Given the description of an element on the screen output the (x, y) to click on. 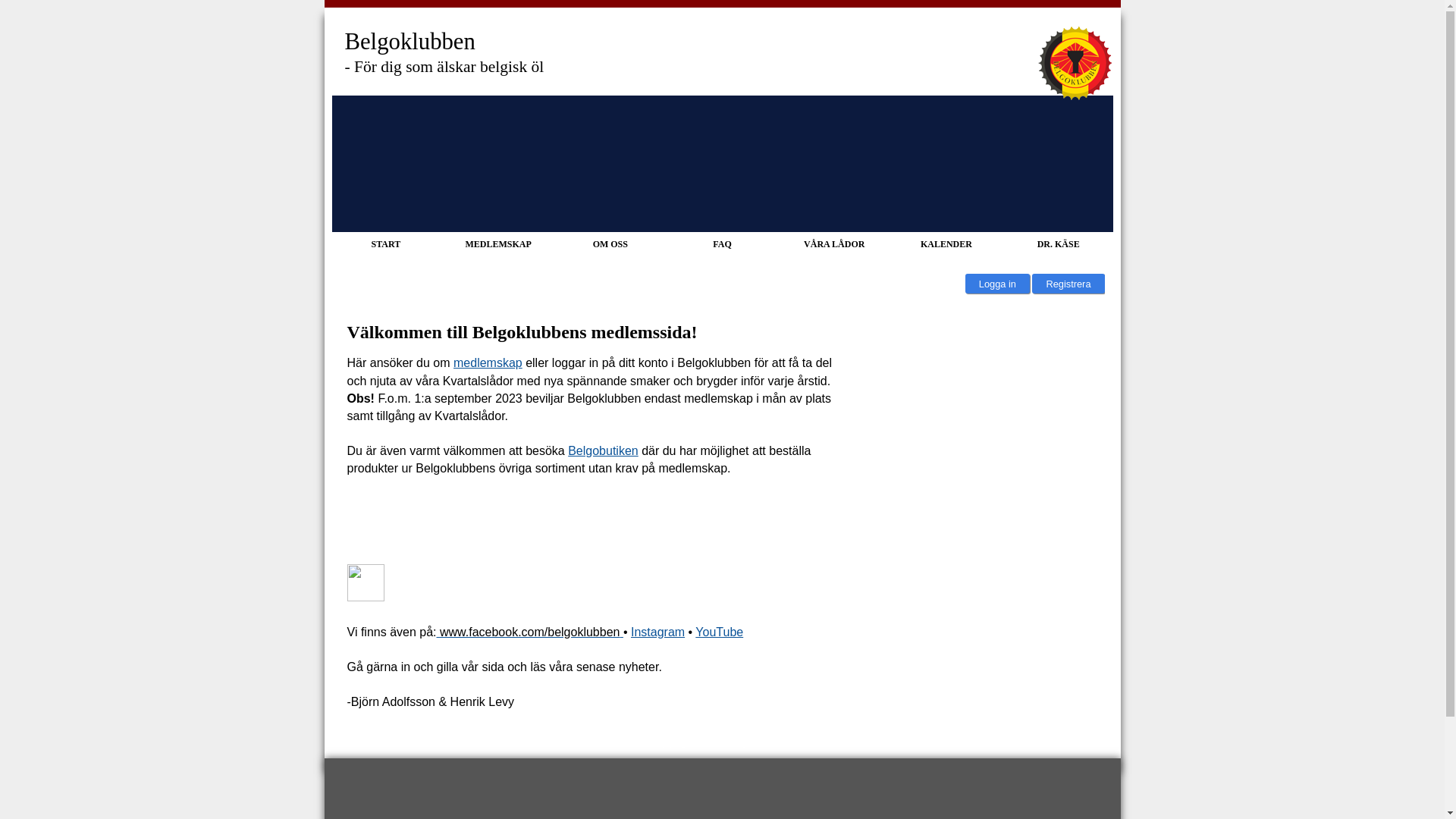
FAQ Element type: text (721, 244)
MEDLEMSKAP Element type: text (497, 244)
Instagram Element type: text (657, 631)
YouTube Element type: text (719, 631)
START Element type: text (386, 244)
KALENDER Element type: text (946, 244)
Belgobutiken Element type: text (602, 450)
www.facebook.com/belgoklubben Element type: text (529, 631)
medlemskap Element type: text (487, 362)
OM OSS Element type: text (610, 244)
